Given the description of an element on the screen output the (x, y) to click on. 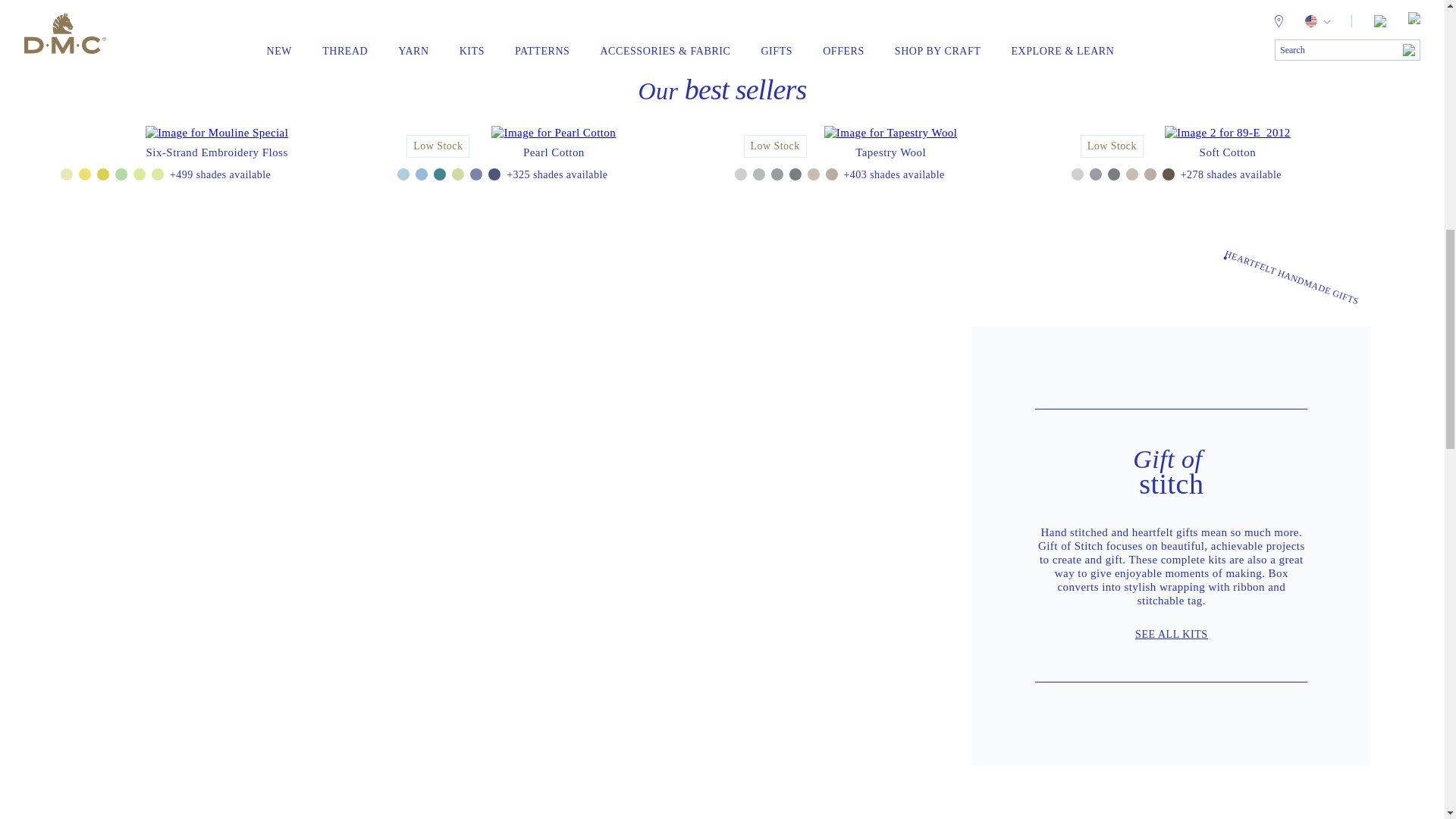
Pearl Cotton (553, 152)
Six-Strand Embroidery Floss (217, 152)
Soft Cotton (1227, 152)
Tapestry Wool (891, 152)
